Given the description of an element on the screen output the (x, y) to click on. 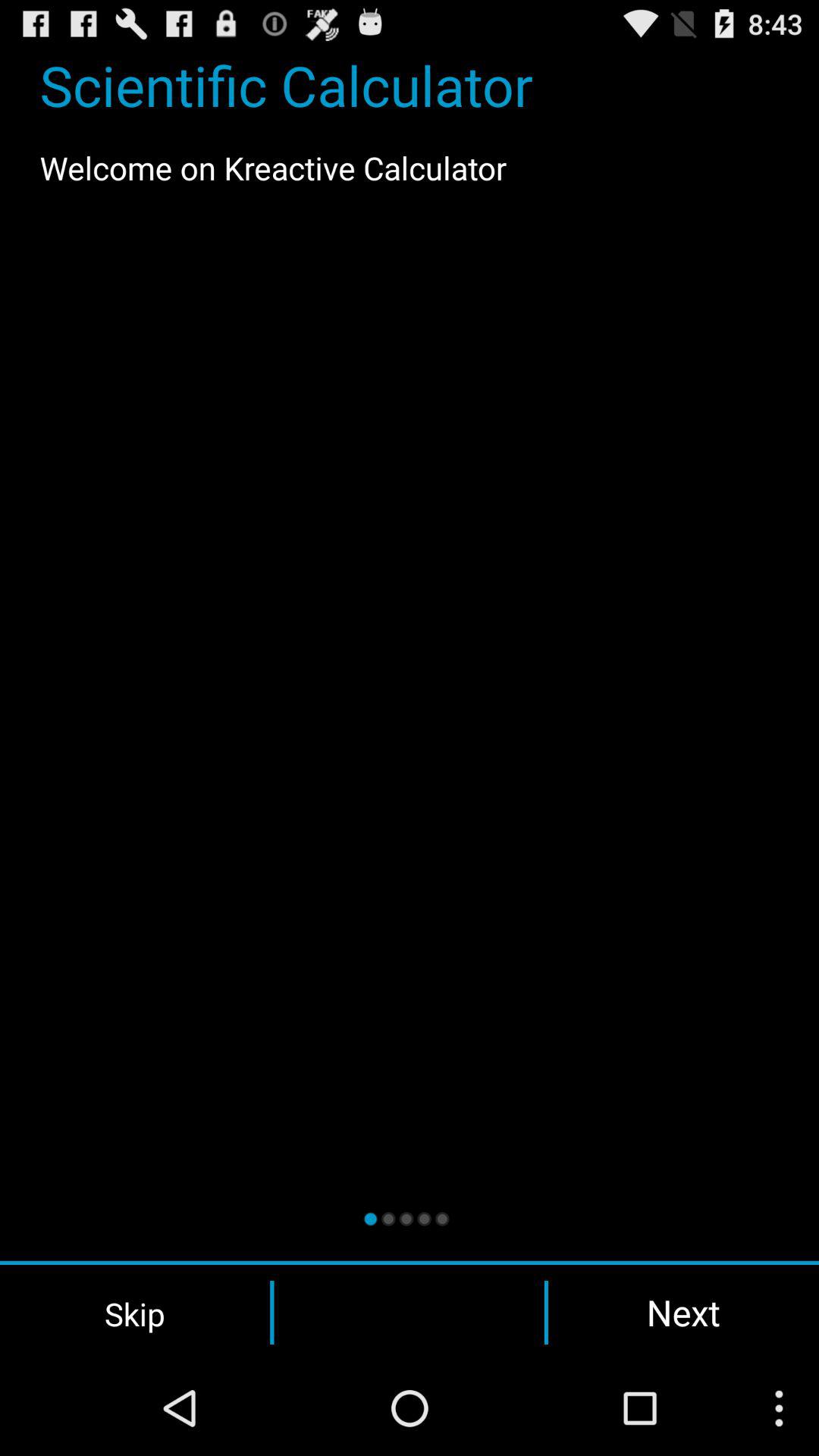
jump until skip icon (135, 1313)
